Given the description of an element on the screen output the (x, y) to click on. 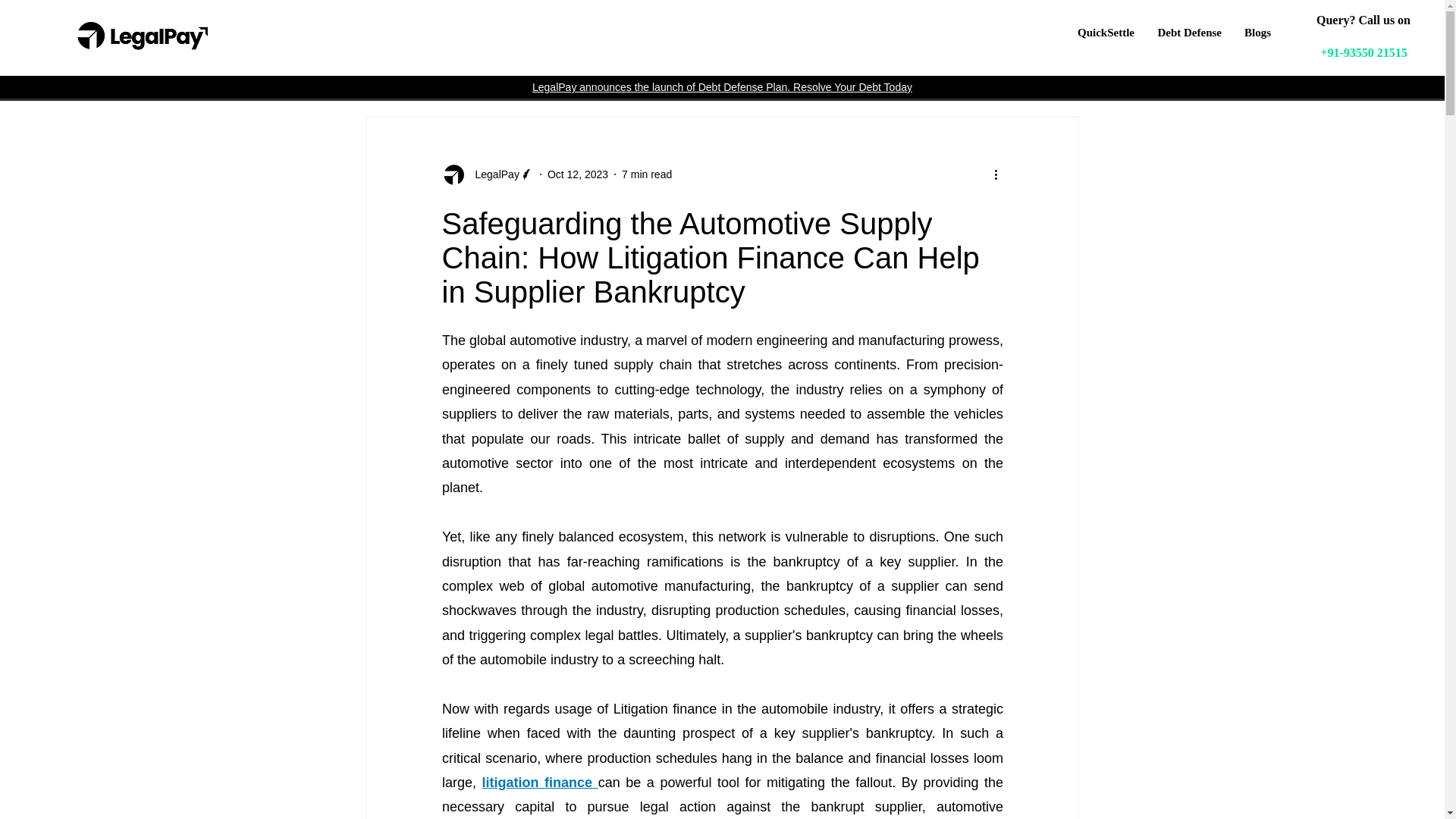
LegalPay (486, 174)
Blogs (1257, 32)
Oct 12, 2023 (577, 174)
QuickSettle (1105, 32)
LegalPay (491, 174)
Debt Defense (1189, 32)
7 min read (646, 174)
litigation finance  (538, 782)
